Given the description of an element on the screen output the (x, y) to click on. 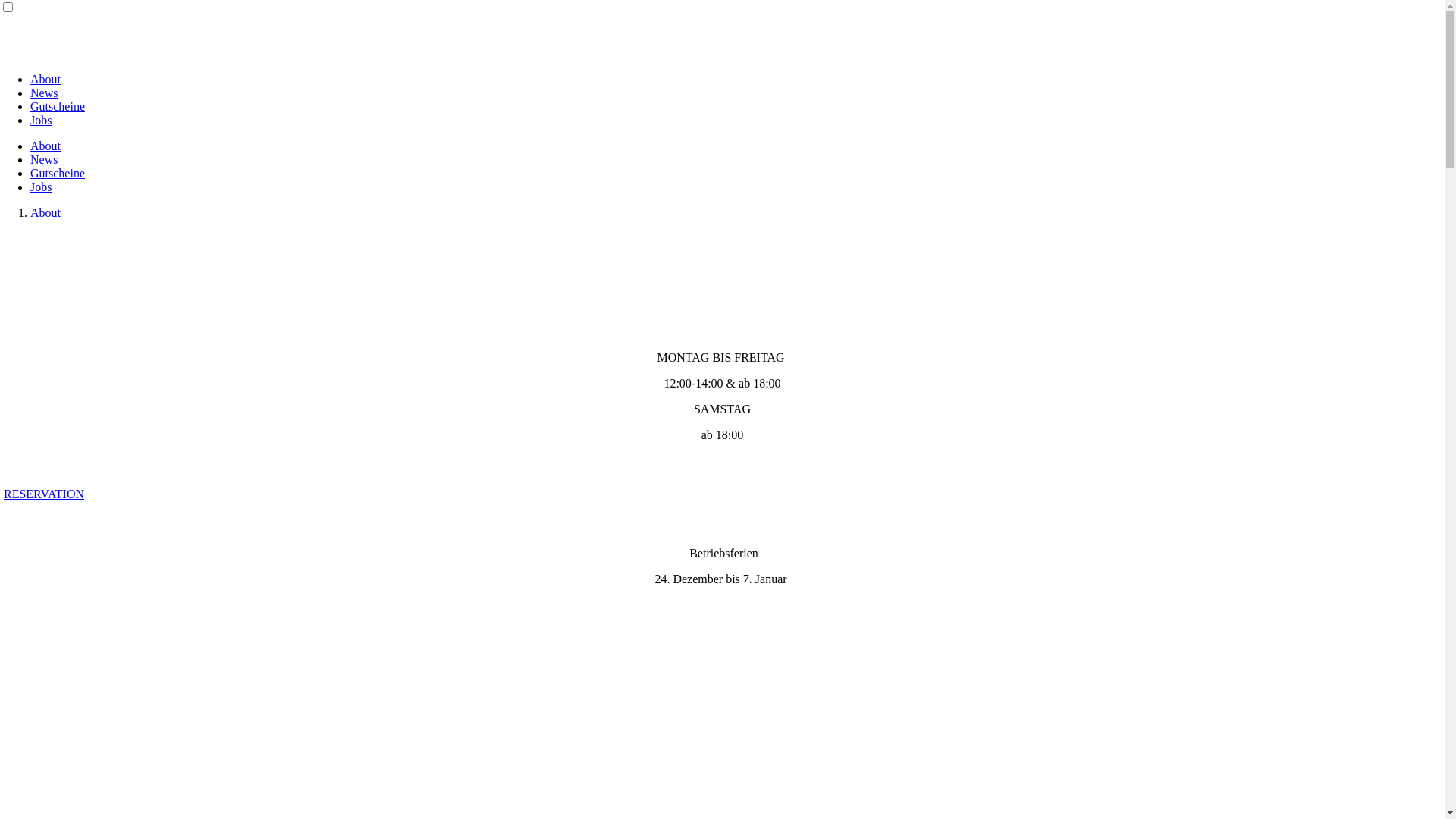
Jobs Element type: text (40, 186)
News Element type: text (43, 159)
About Element type: text (45, 145)
RESERVATION Element type: text (43, 493)
Jobs Element type: text (40, 119)
News Element type: text (43, 92)
About Element type: text (45, 212)
About Element type: text (45, 78)
Gutscheine Element type: text (57, 172)
Gutscheine Element type: text (57, 106)
